Given the description of an element on the screen output the (x, y) to click on. 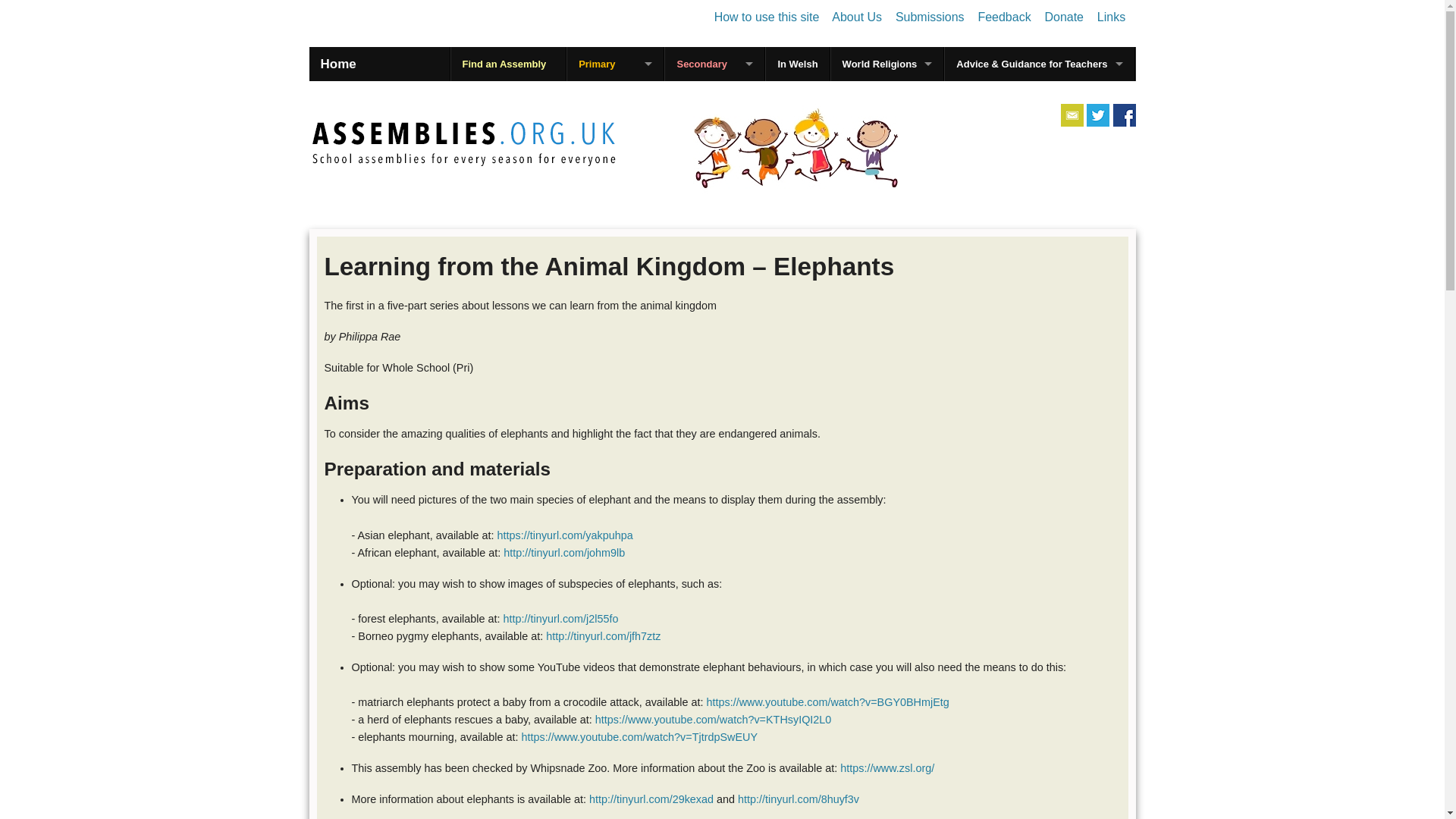
Donate (1063, 16)
Find out more about Assemblies on Twitter (1097, 115)
In Welsh (796, 63)
Share about us on Facebook (1124, 115)
Links (1111, 16)
Home (338, 63)
Secondary     (714, 63)
How to use this site (766, 16)
About Us (856, 16)
Share this site by emailing your colleagues (1072, 115)
